Given the description of an element on the screen output the (x, y) to click on. 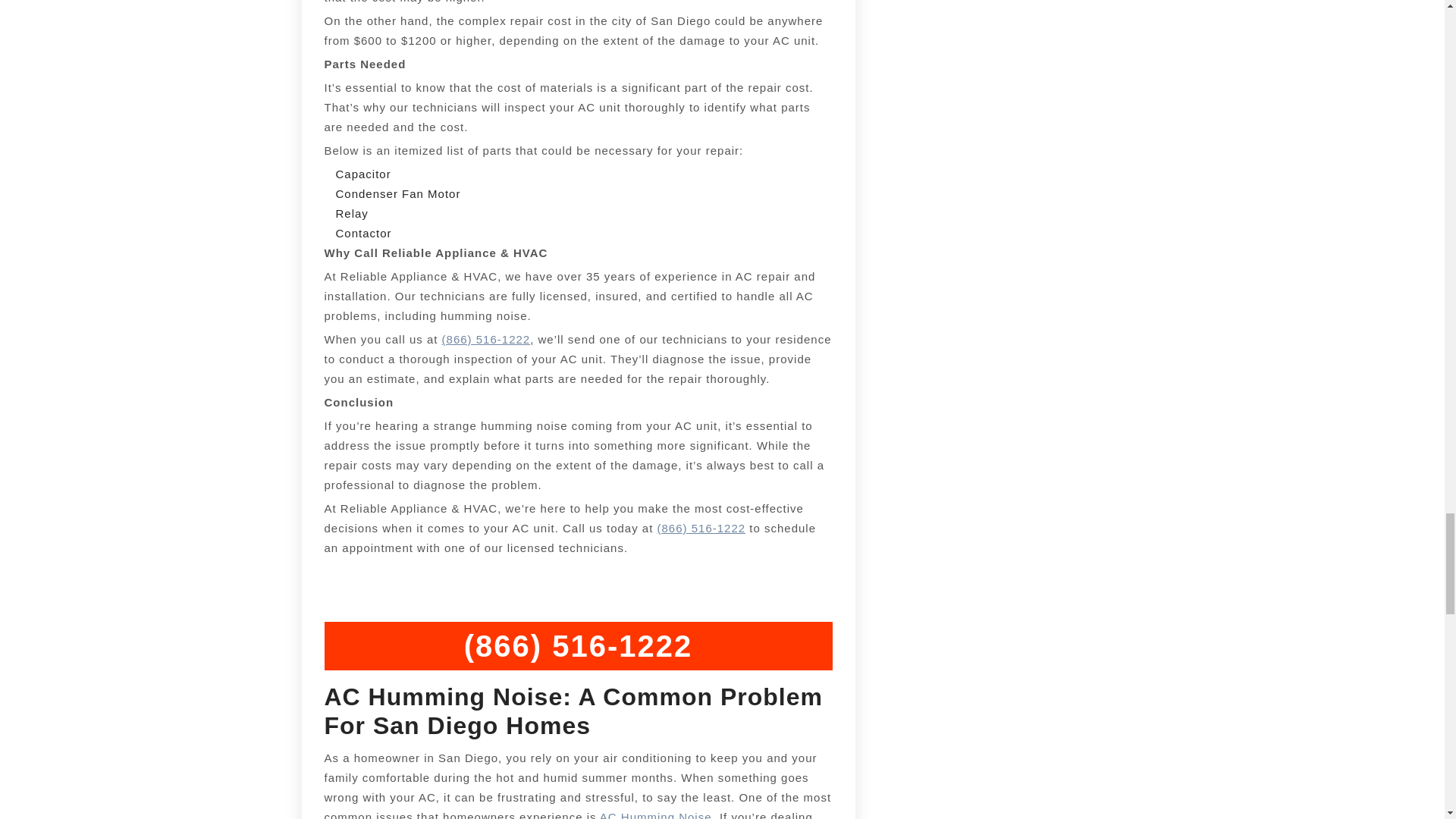
AC Making Humming Noise Due to Bad Capacitor (655, 814)
AC Making Humming Noise Due to Bad Capacitor (486, 338)
AC Making Humming Noise Due to Bad Capacitor (701, 527)
